Given the description of an element on the screen output the (x, y) to click on. 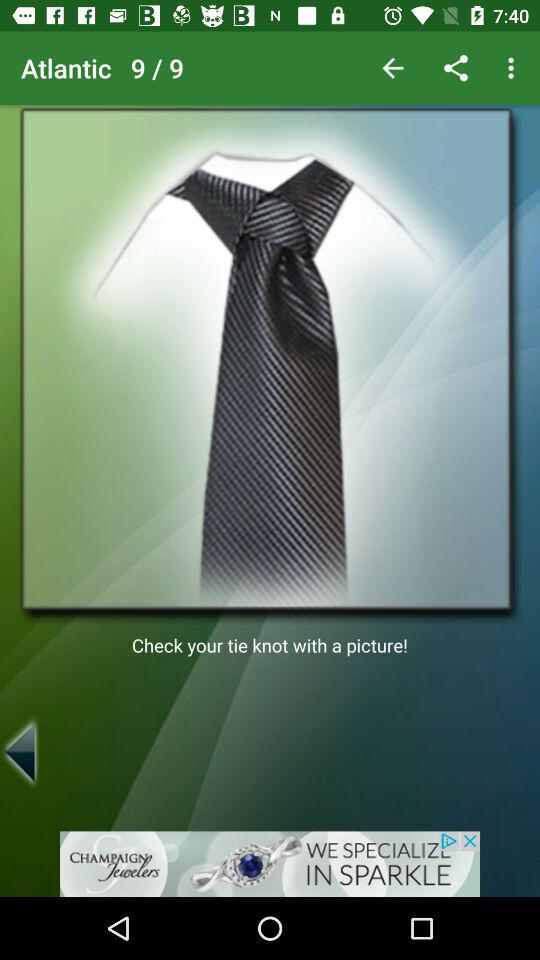
redirects you to offer page (270, 864)
